Given the description of an element on the screen output the (x, y) to click on. 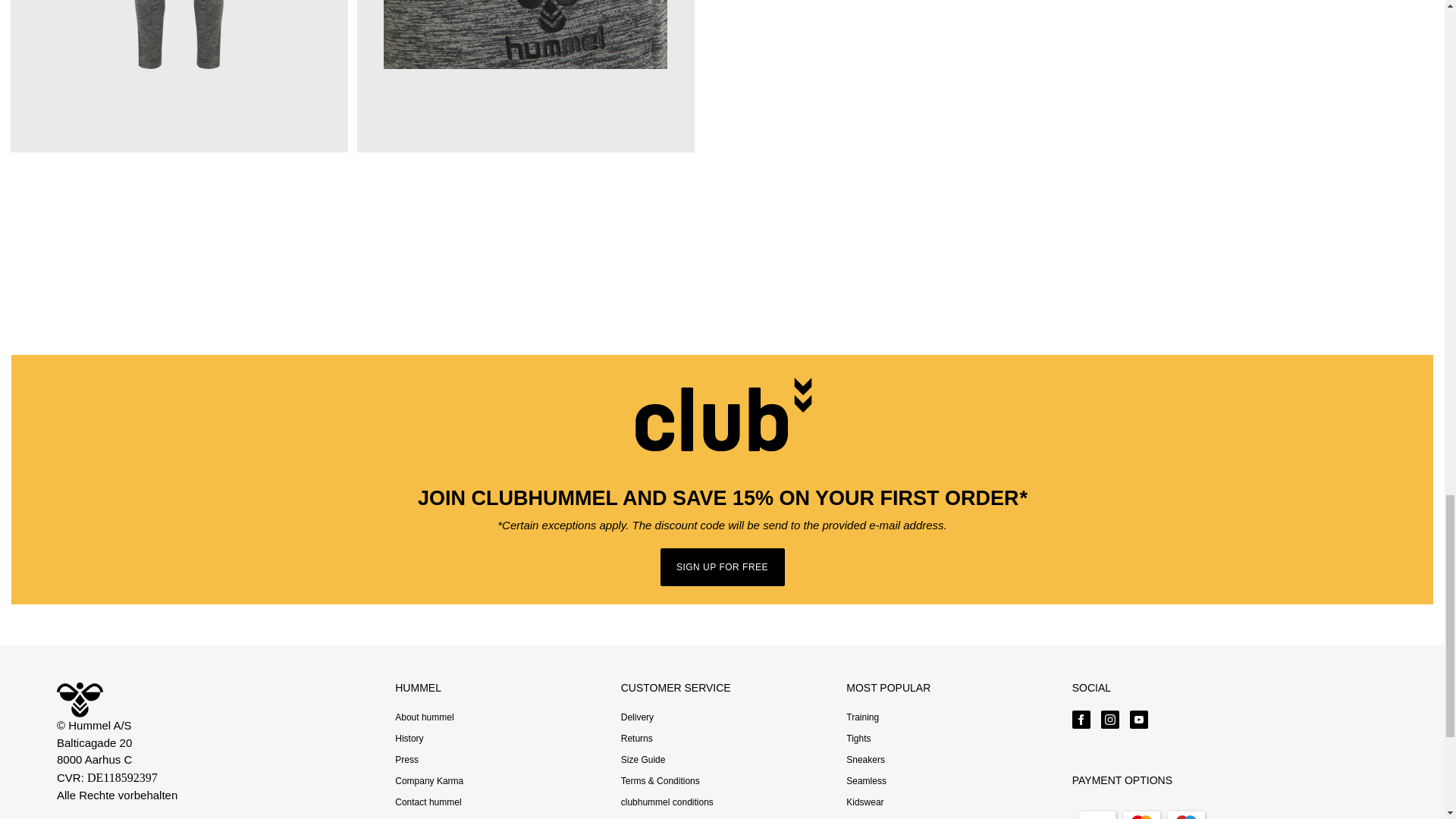
Go to History (408, 738)
Go to Returns (636, 738)
Go to About Hummel (423, 716)
Go to Press (406, 759)
Go to Delivery (637, 716)
Go to Contact (427, 801)
Go to Size Guide (643, 759)
Go to Company Karma (428, 780)
